Given the description of an element on the screen output the (x, y) to click on. 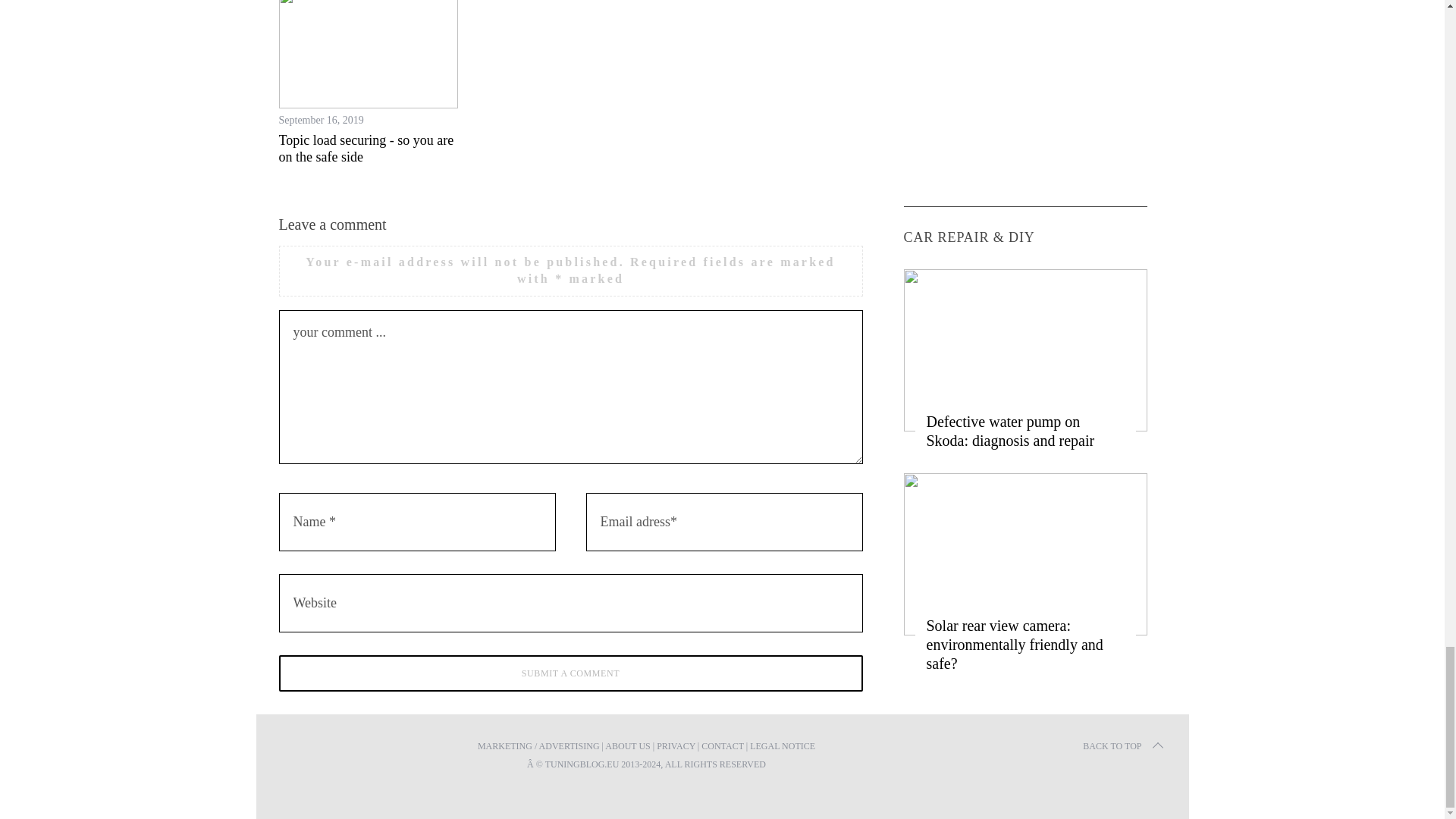
Submit a comment (571, 673)
